Given the description of an element on the screen output the (x, y) to click on. 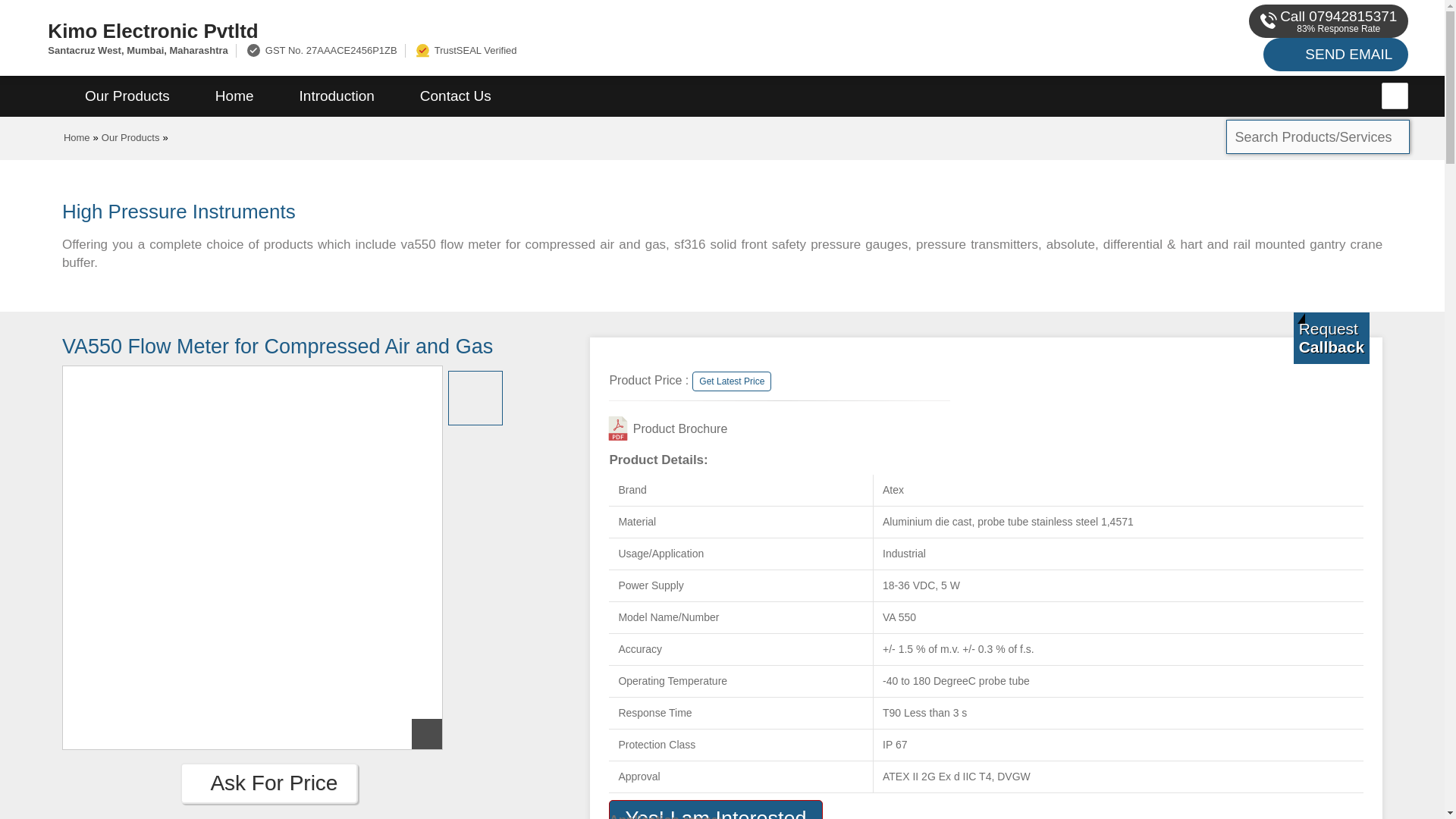
Kimo Electronic Pvtltd (485, 31)
Our Products (127, 96)
Get a Call from us (1332, 337)
